Given the description of an element on the screen output the (x, y) to click on. 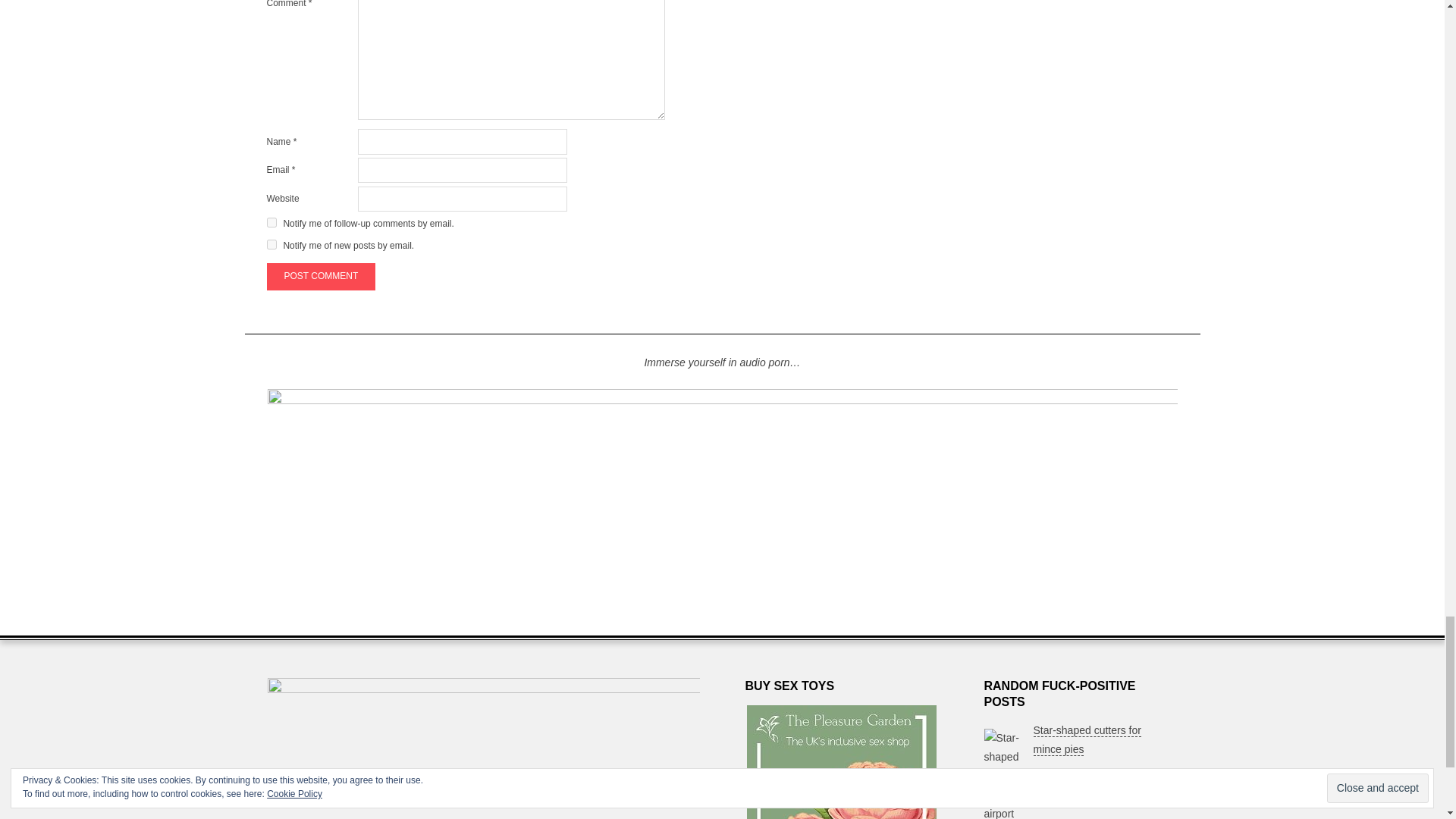
Post Comment (320, 276)
subscribe (271, 222)
subscribe (271, 244)
